Given the description of an element on the screen output the (x, y) to click on. 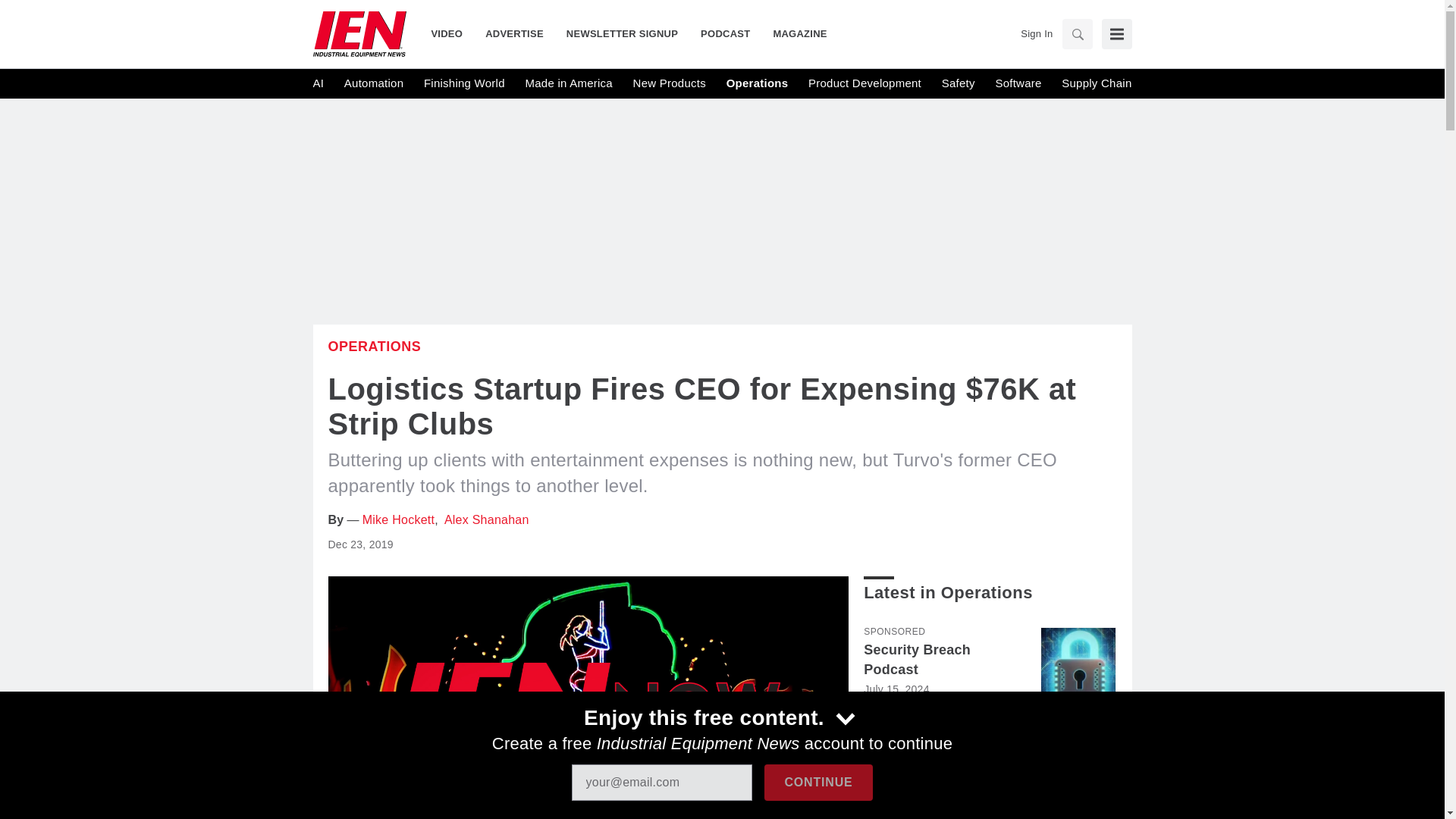
Made in America (567, 83)
PODCAST (724, 33)
Supply Chain (1096, 83)
New Products (669, 83)
MAGAZINE (794, 33)
Operations (373, 345)
Finishing World (464, 83)
AI (318, 83)
Product Development (864, 83)
Software (1017, 83)
ADVERTISE (514, 33)
VIDEO (452, 33)
Sign In (1036, 33)
Operations (757, 83)
Safety (958, 83)
